Given the description of an element on the screen output the (x, y) to click on. 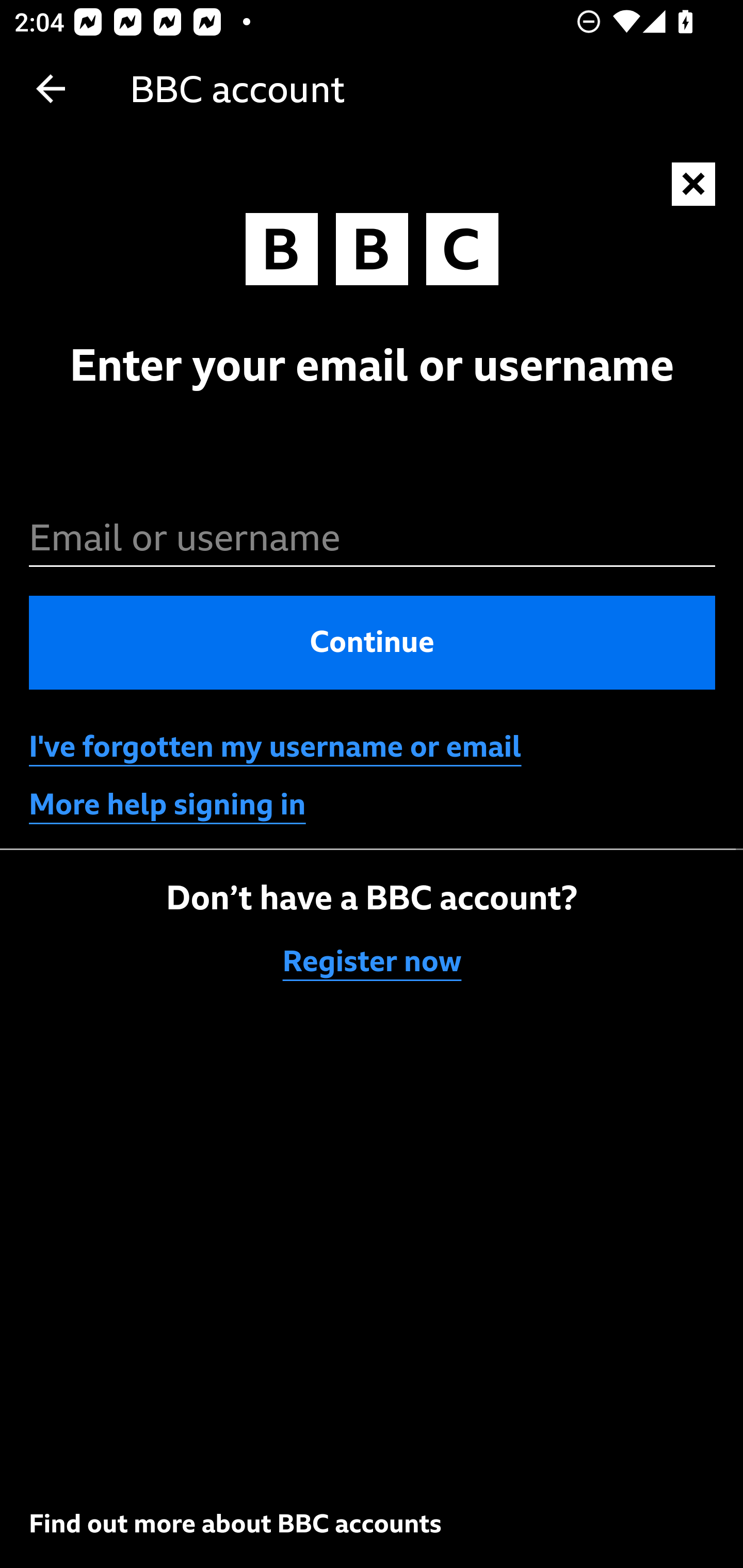
Close and return to where you originally came from (694, 184)
Go to the BBC Homepage (371, 253)
Continue (372, 641)
I've forgotten my username or email (274, 747)
More help signing in (167, 805)
Register now (372, 960)
Find out more about BBC accounts (235, 1522)
